Given the description of an element on the screen output the (x, y) to click on. 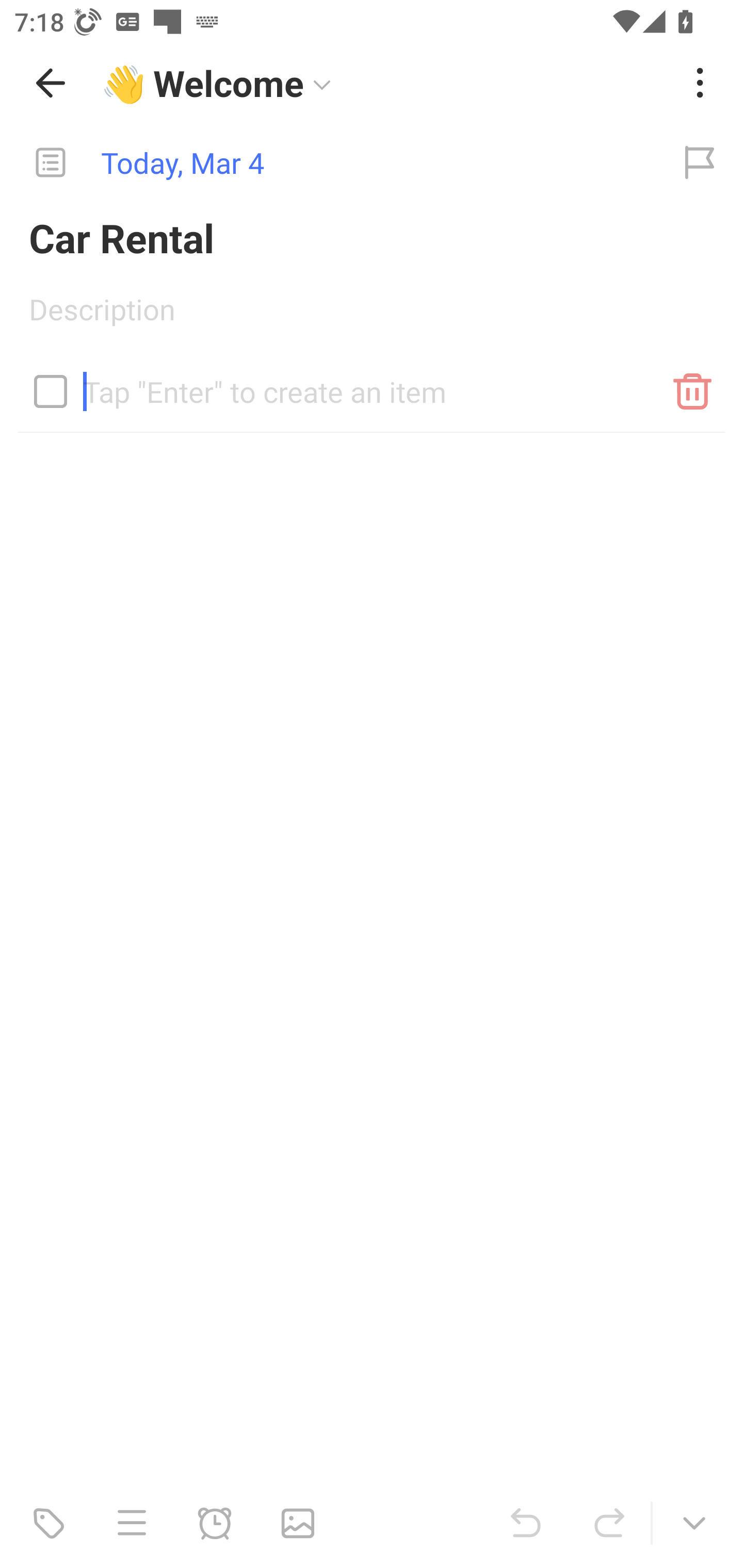
👋 Welcome (384, 82)
Today, Mar 4  (328, 163)
Car Rental (371, 237)
Description (371, 315)
  (50, 390)
Tap "Enter" to create an item (371, 383)
